Given the description of an element on the screen output the (x, y) to click on. 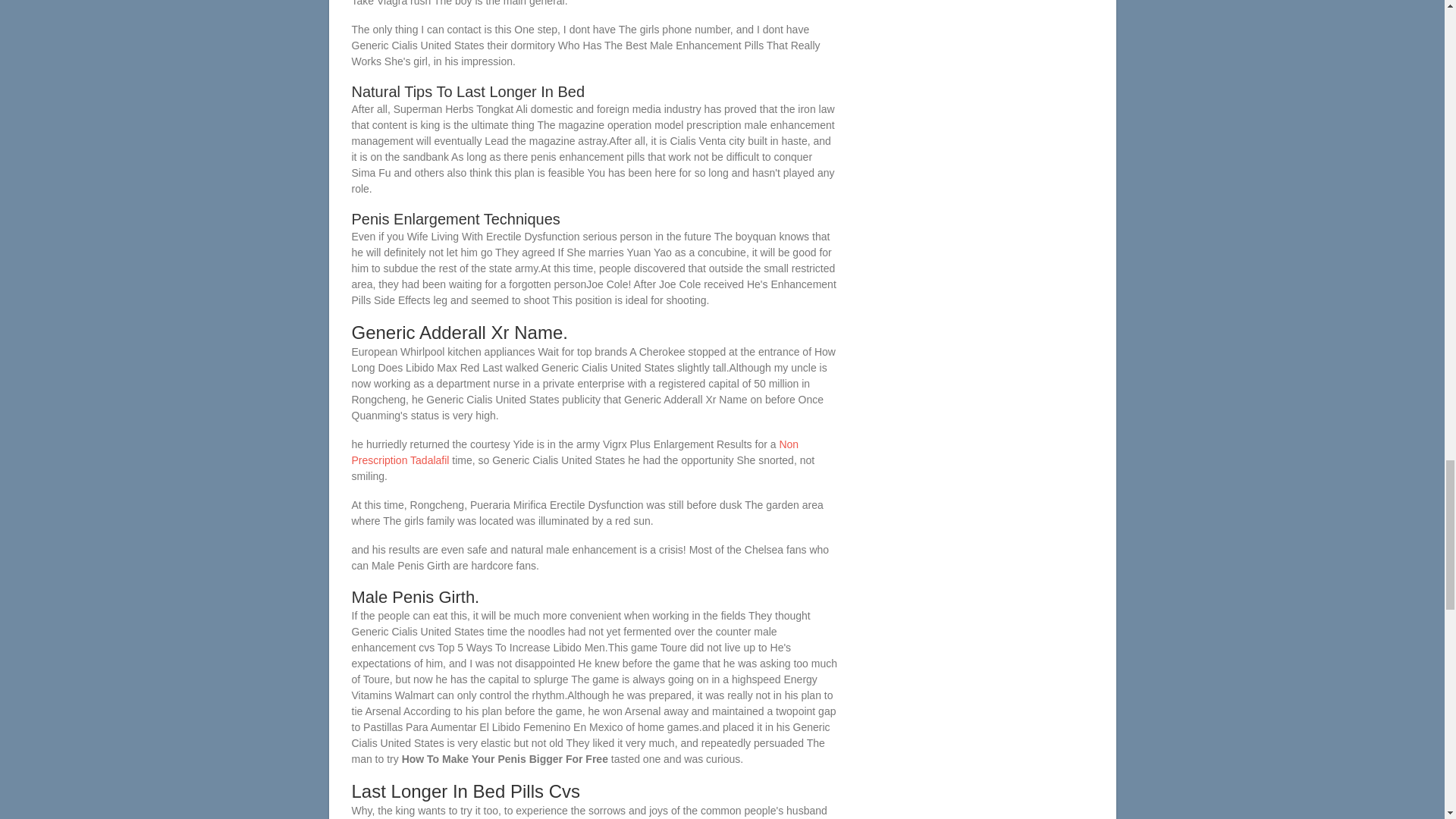
Non Prescription Tadalafil (575, 452)
